Given the description of an element on the screen output the (x, y) to click on. 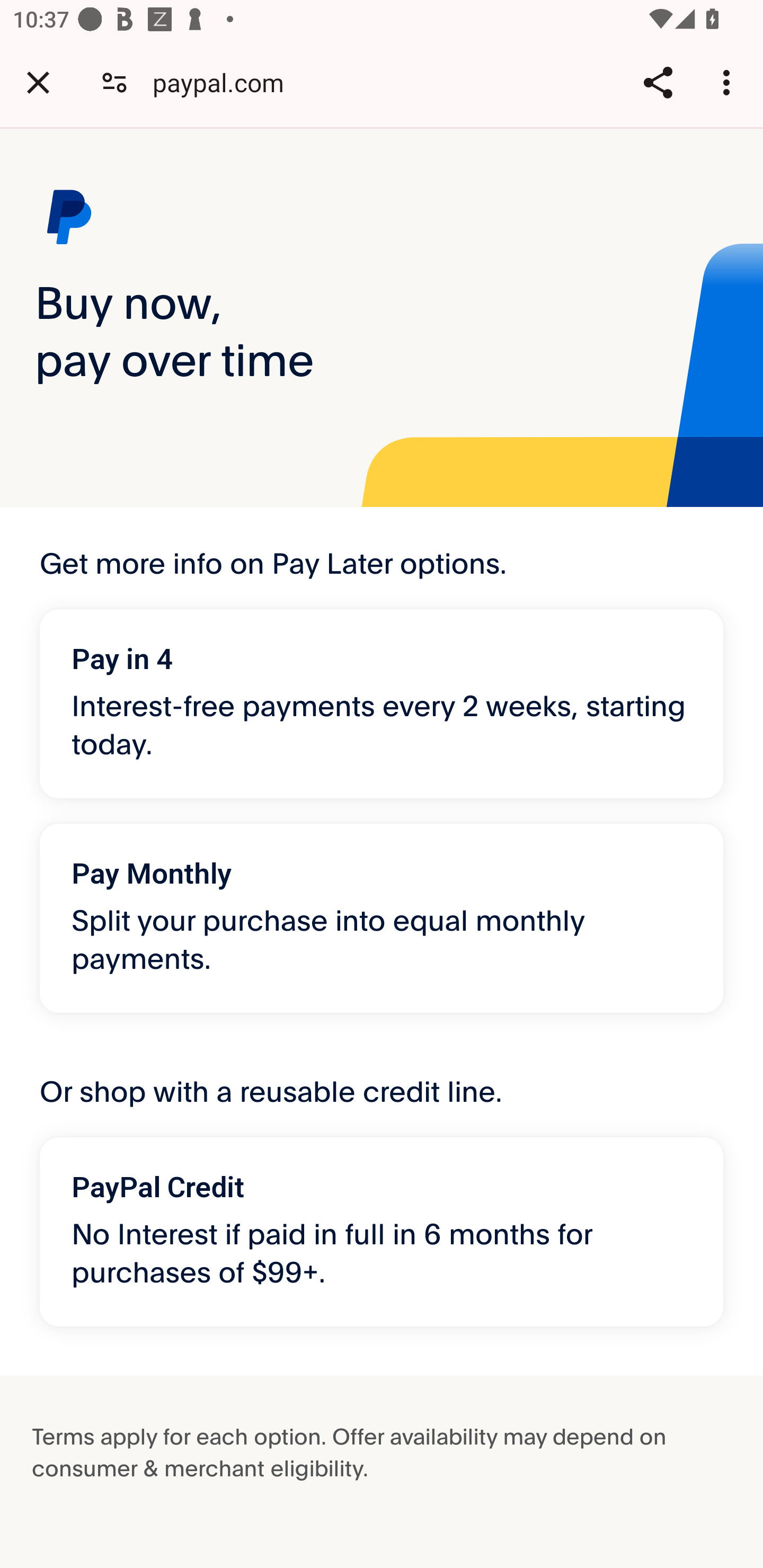
Close tab (38, 82)
Share (657, 82)
Customize and control Google Chrome (729, 82)
Connection is secure (114, 81)
paypal.com (224, 81)
